Given the description of an element on the screen output the (x, y) to click on. 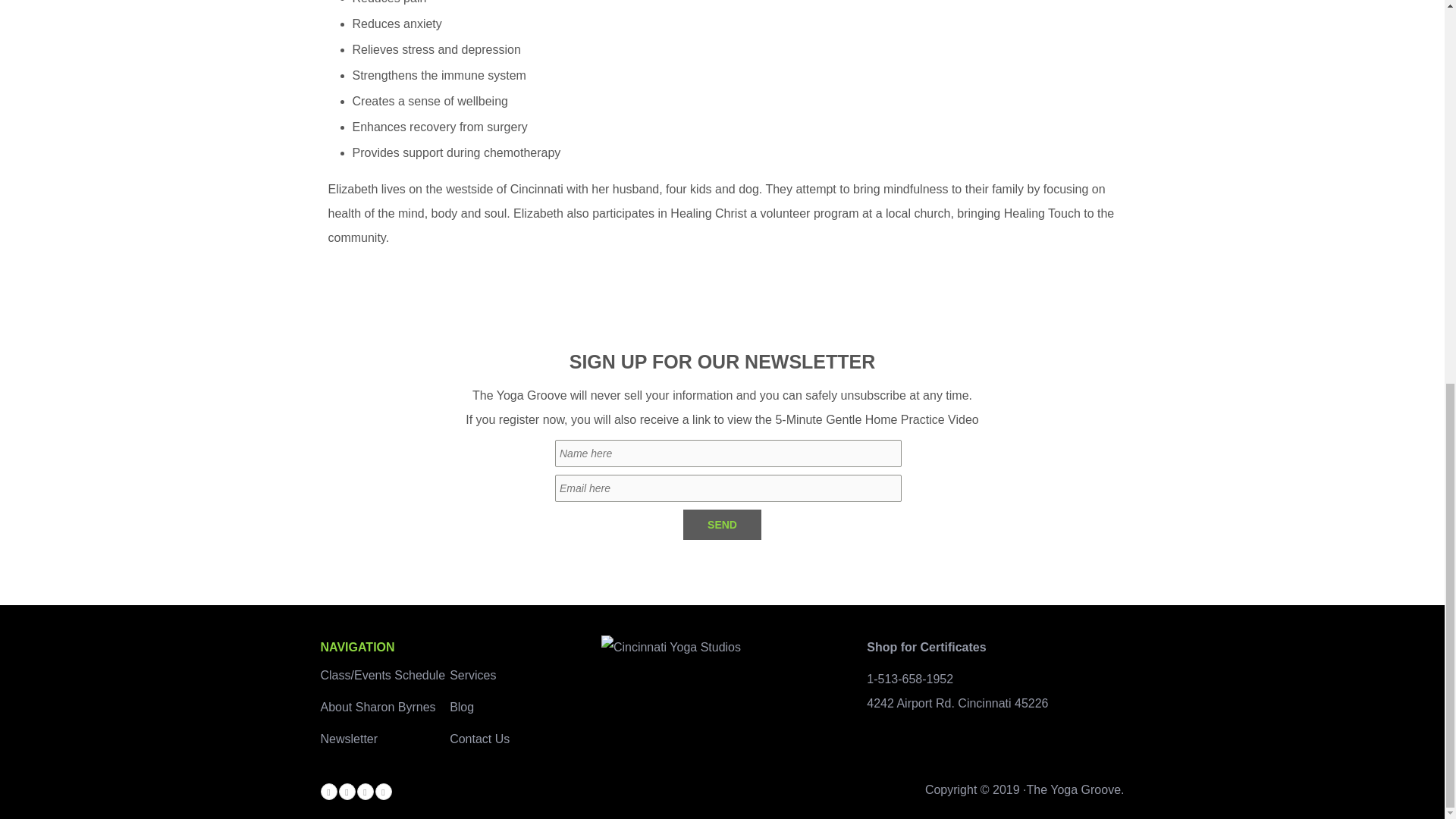
Newsletter (348, 738)
Send (721, 524)
Send (721, 524)
Services (472, 675)
Blog (461, 707)
Contact Us (479, 738)
Shop for Certificates (925, 646)
About Sharon Byrnes (377, 707)
